Given the description of an element on the screen output the (x, y) to click on. 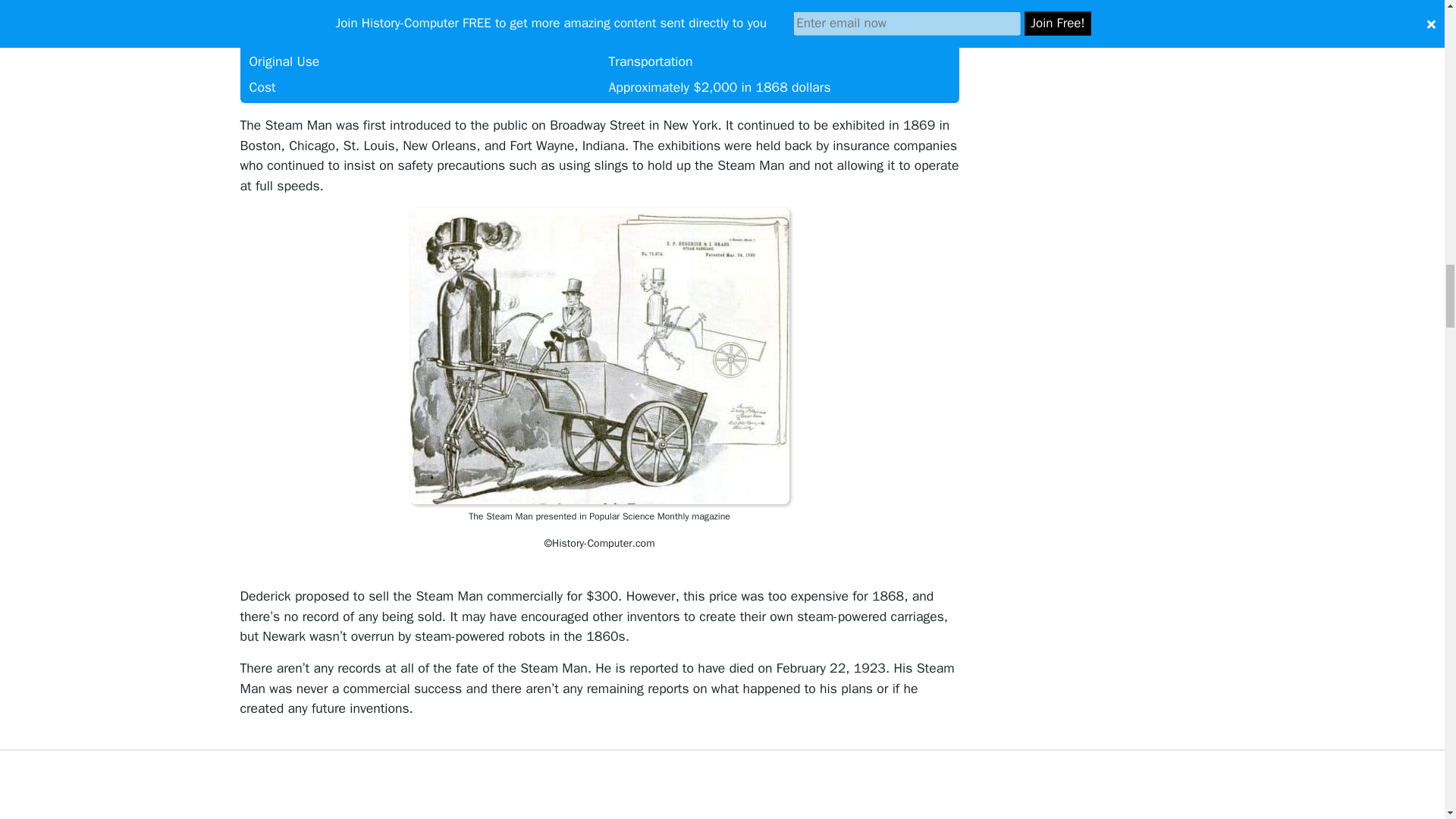
Quick Facts (599, 52)
